Given the description of an element on the screen output the (x, y) to click on. 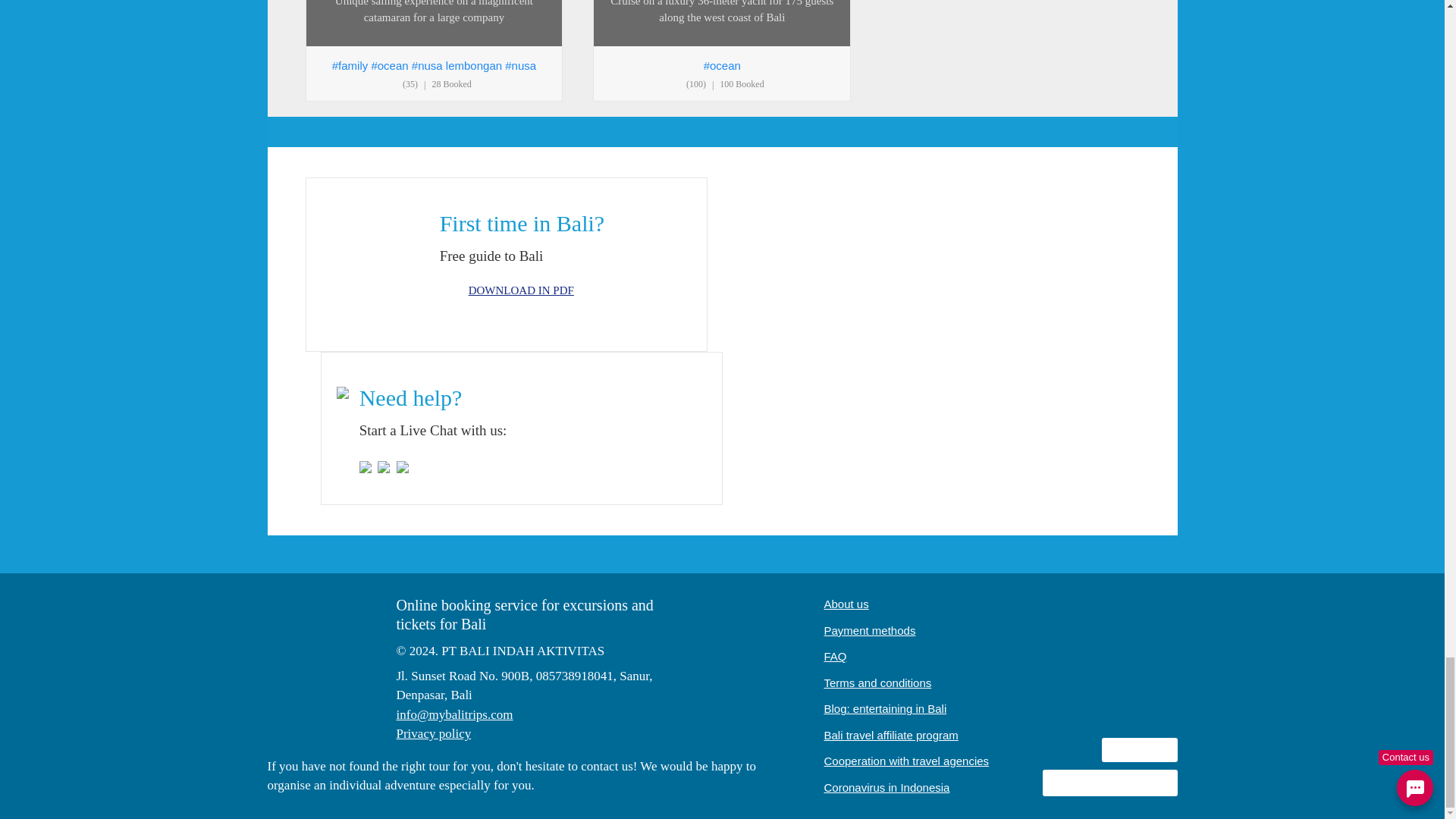
Chat with us on WhatsApp (385, 465)
Chat with us on Telegram (404, 465)
TripAdvisor (1138, 637)
Chat with us on Facebook (367, 465)
